Given the description of an element on the screen output the (x, y) to click on. 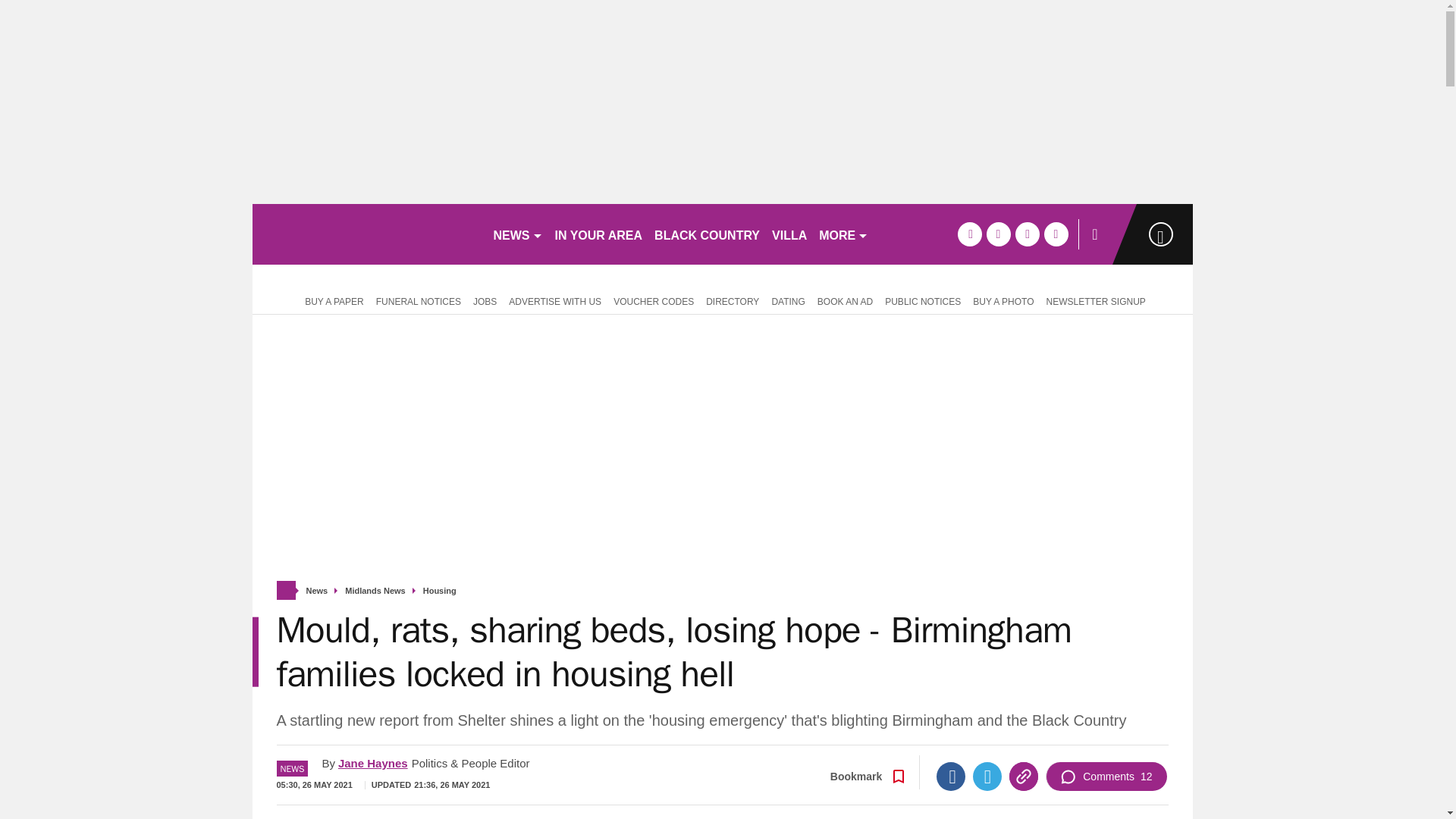
Twitter (986, 776)
instagram (1055, 233)
NEWS (517, 233)
MORE (843, 233)
facebook (968, 233)
BLACK COUNTRY (706, 233)
tiktok (1026, 233)
twitter (997, 233)
IN YOUR AREA (598, 233)
Comments (1105, 776)
Facebook (950, 776)
birminghammail (365, 233)
